Given the description of an element on the screen output the (x, y) to click on. 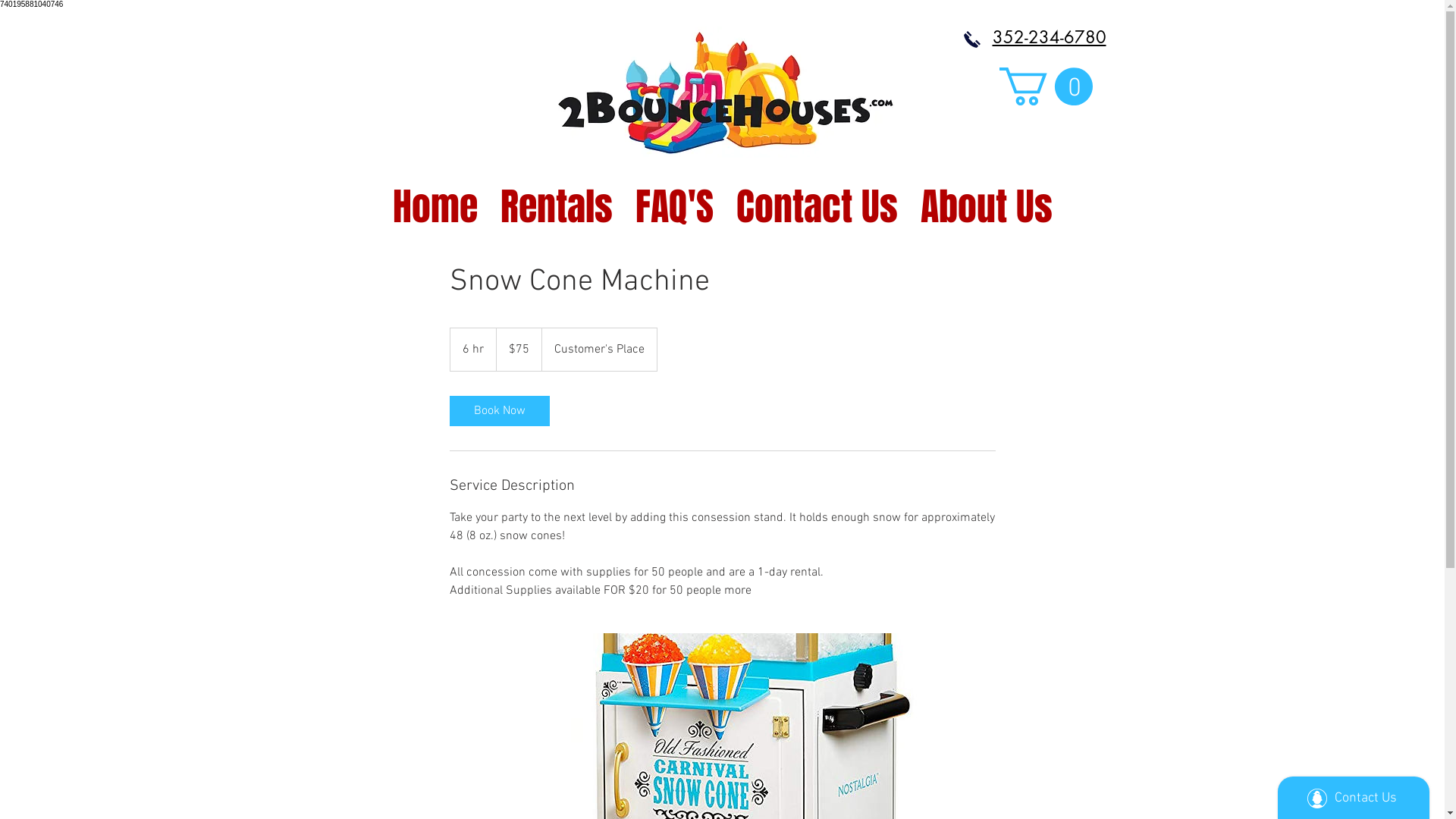
FAQ'S Element type: text (673, 198)
Home Element type: text (434, 198)
Contact Us Element type: text (816, 198)
Book Now Element type: text (498, 410)
        352-234-6780 Element type: text (1027, 38)
About Us Element type: text (985, 198)
Rentals Element type: text (555, 198)
0 Element type: text (1045, 86)
